Given the description of an element on the screen output the (x, y) to click on. 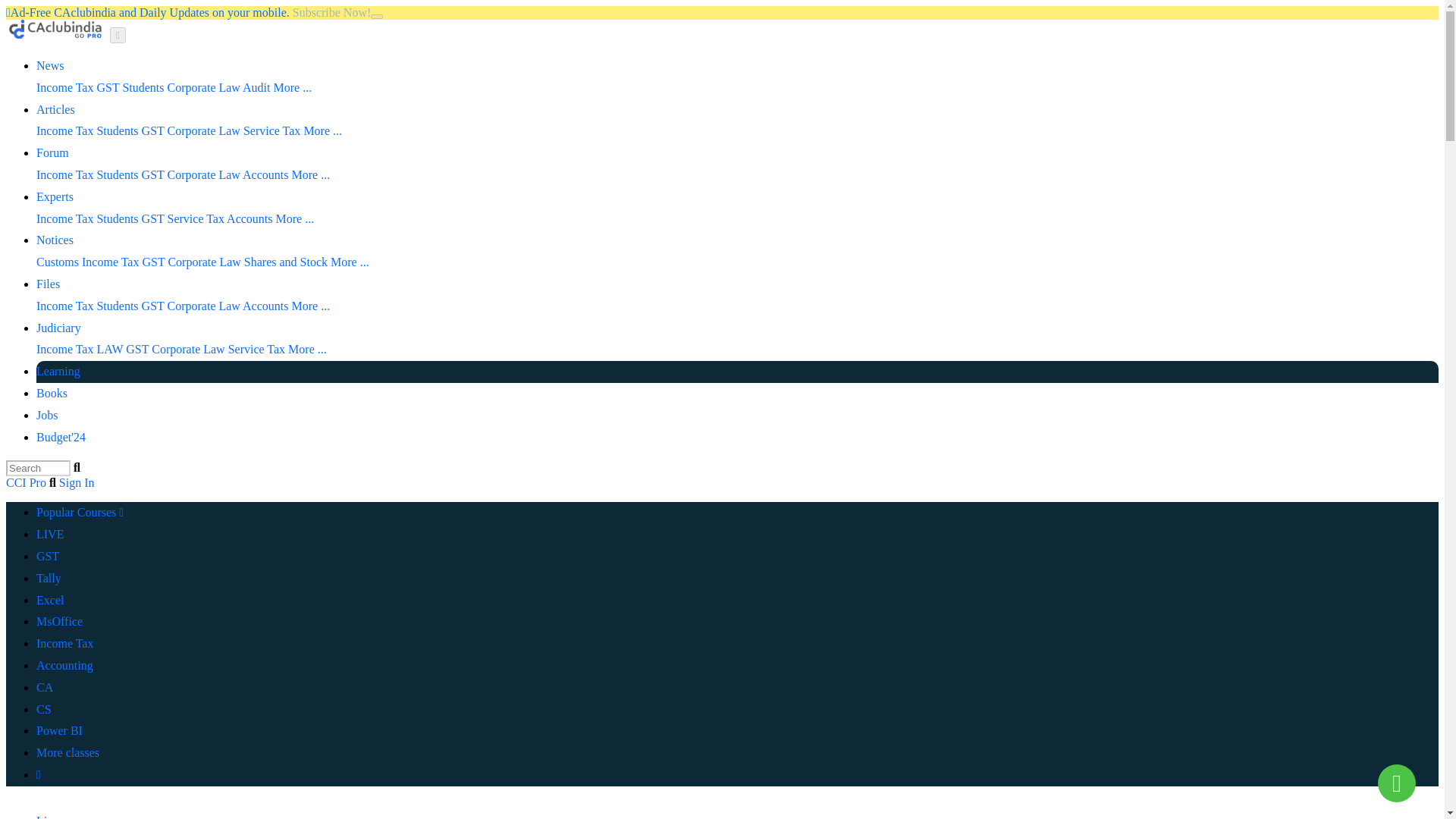
Notices (55, 239)
News (50, 65)
More ... (292, 87)
Service Tax (195, 218)
GST (152, 130)
Explore classes (67, 752)
Students (117, 130)
Students (117, 174)
GST (152, 218)
More ... (295, 218)
More ... (349, 261)
Corporate Law (203, 87)
Income Tax (64, 87)
Forum (52, 152)
Experts (55, 196)
